Given the description of an element on the screen output the (x, y) to click on. 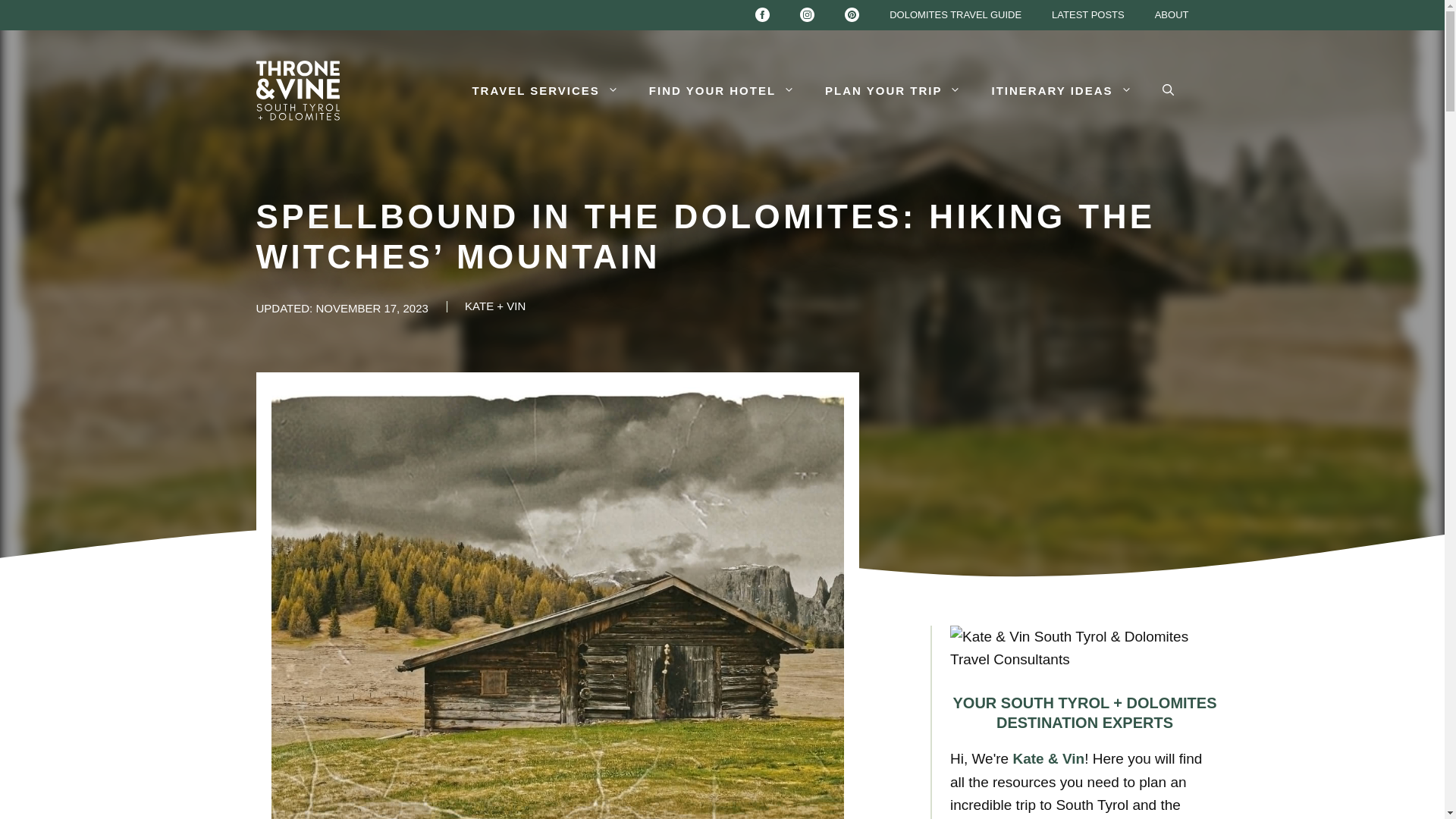
ABOUT (1172, 15)
FIND YOUR HOTEL (721, 91)
LATEST POSTS (1088, 15)
DOLOMITES TRAVEL GUIDE (955, 15)
ITINERARY IDEAS (1061, 91)
PLAN YOUR TRIP (892, 91)
TRAVEL SERVICES (545, 91)
